Given the description of an element on the screen output the (x, y) to click on. 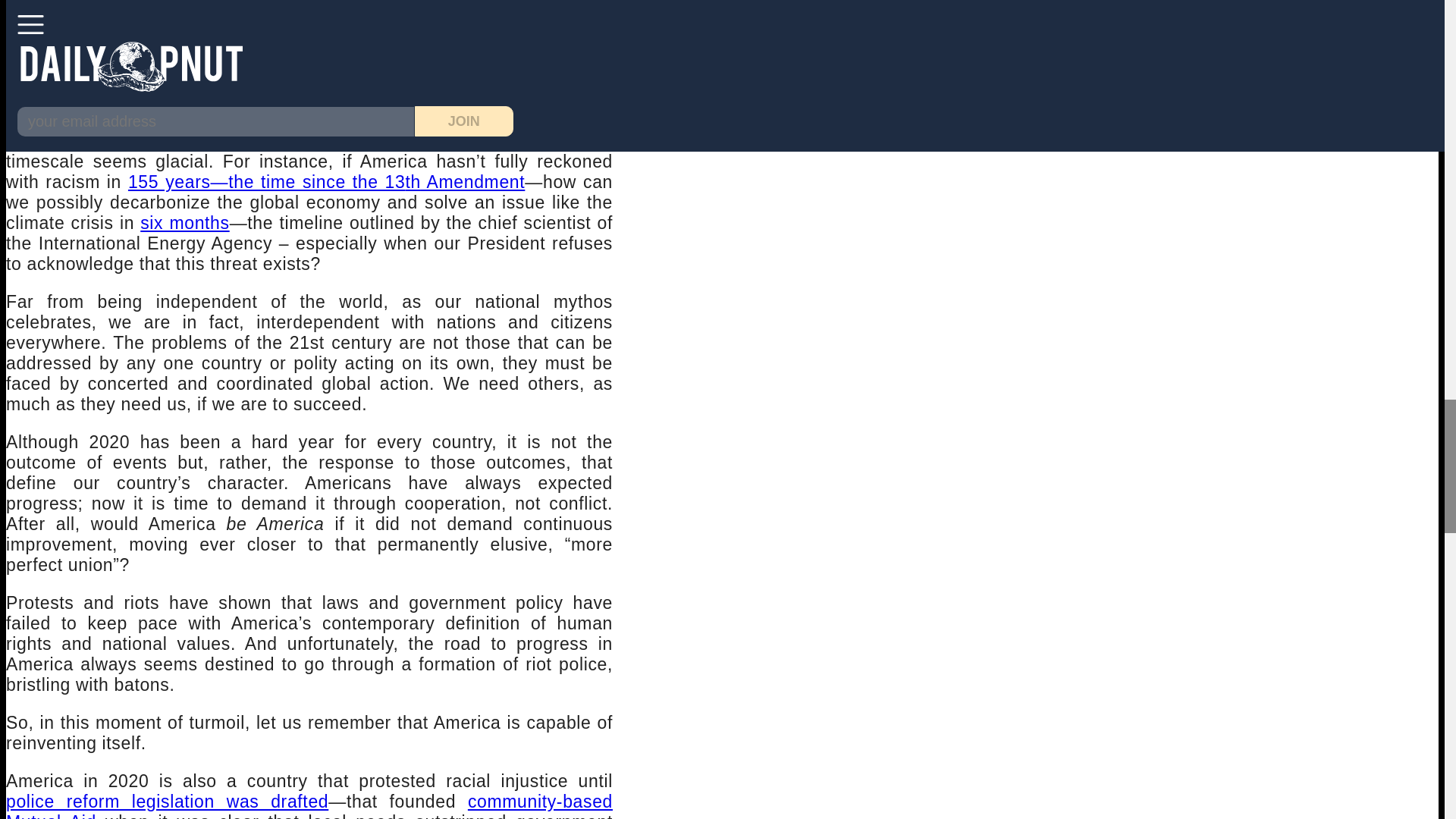
community-based Mutual Aid (308, 805)
six months (183, 222)
police reform legislation was drafted (167, 801)
